Given the description of an element on the screen output the (x, y) to click on. 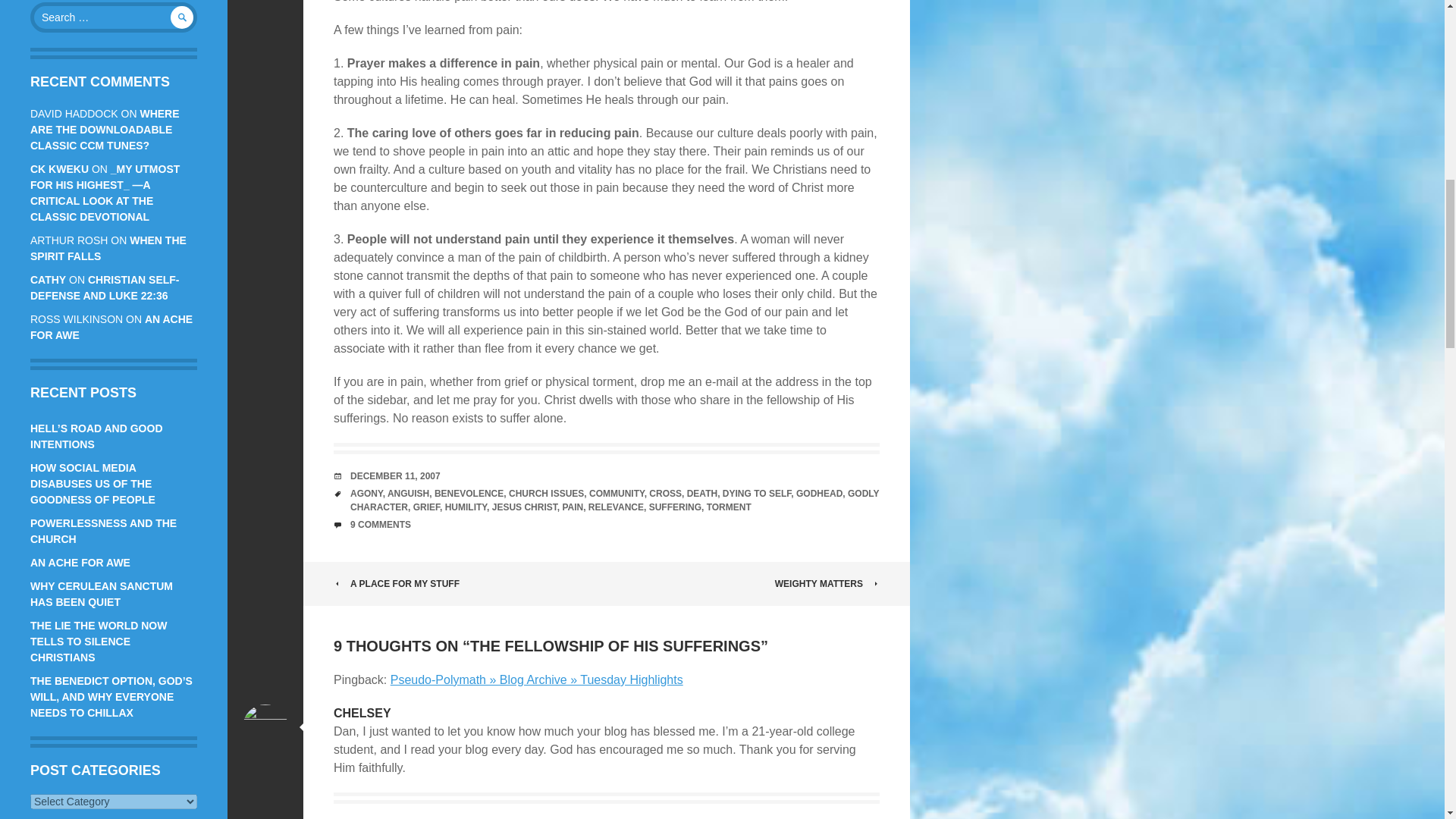
THE LIE THE WORLD NOW TELLS TO SILENCE CHRISTIANS (98, 641)
CK KWEKU (59, 168)
POWERLESSNESS AND THE CHURCH (103, 530)
AN ACHE FOR AWE (80, 562)
CHRISTIAN SELF-DEFENSE AND LUKE 22:36 (104, 287)
WHEN THE SPIRIT FALLS (108, 248)
WHERE ARE THE DOWNLOADABLE CLASSIC CCM TUNES? (104, 129)
WHY CERULEAN SANCTUM HAS BEEN QUIET (101, 593)
HOW SOCIAL MEDIA DISABUSES US OF THE GOODNESS OF PEOPLE (92, 483)
CATHY (47, 279)
